Given the description of an element on the screen output the (x, y) to click on. 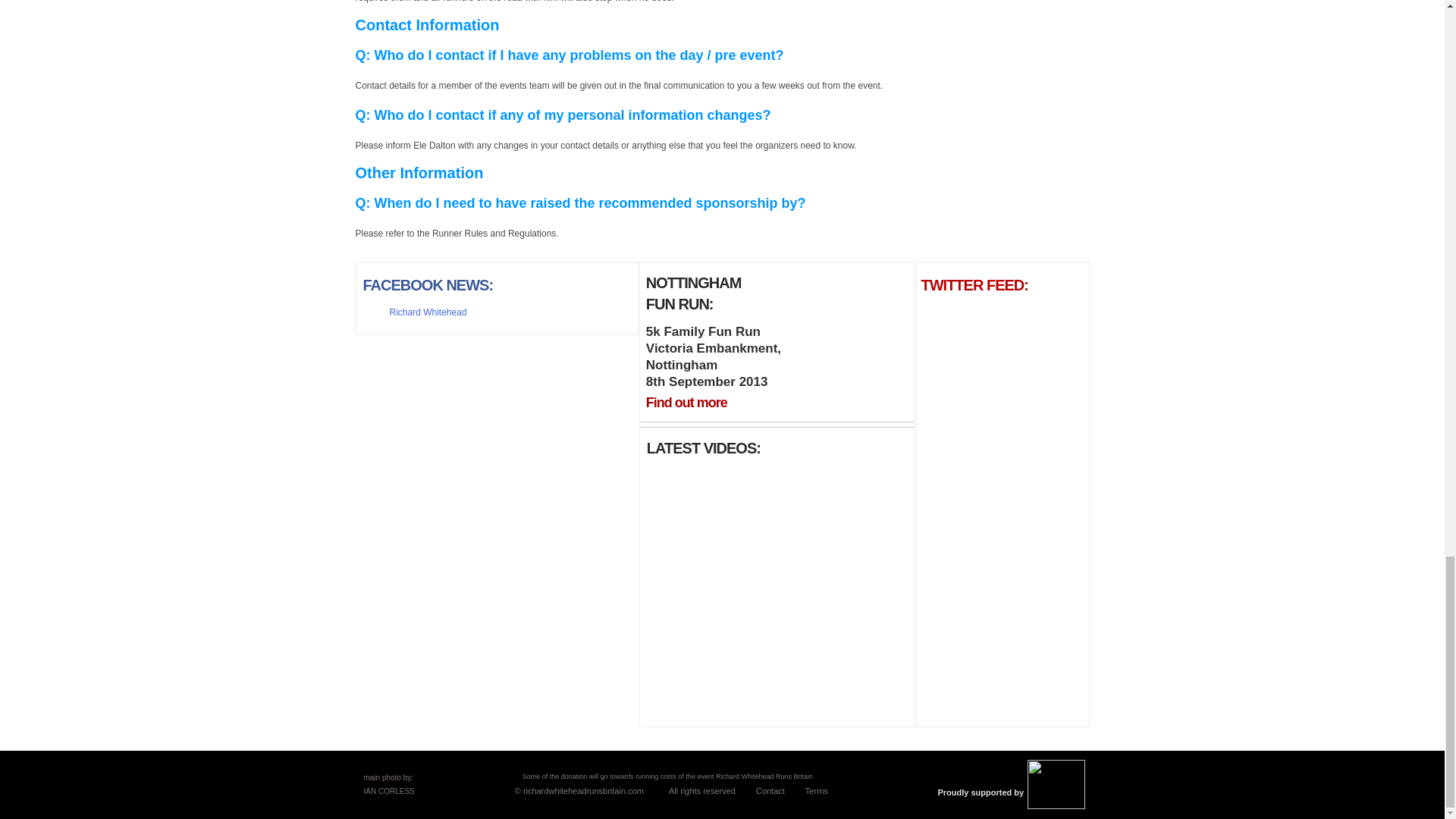
Find out more (686, 402)
Contact (769, 790)
Richard Whitehead (428, 312)
Terms (816, 790)
